Given the description of an element on the screen output the (x, y) to click on. 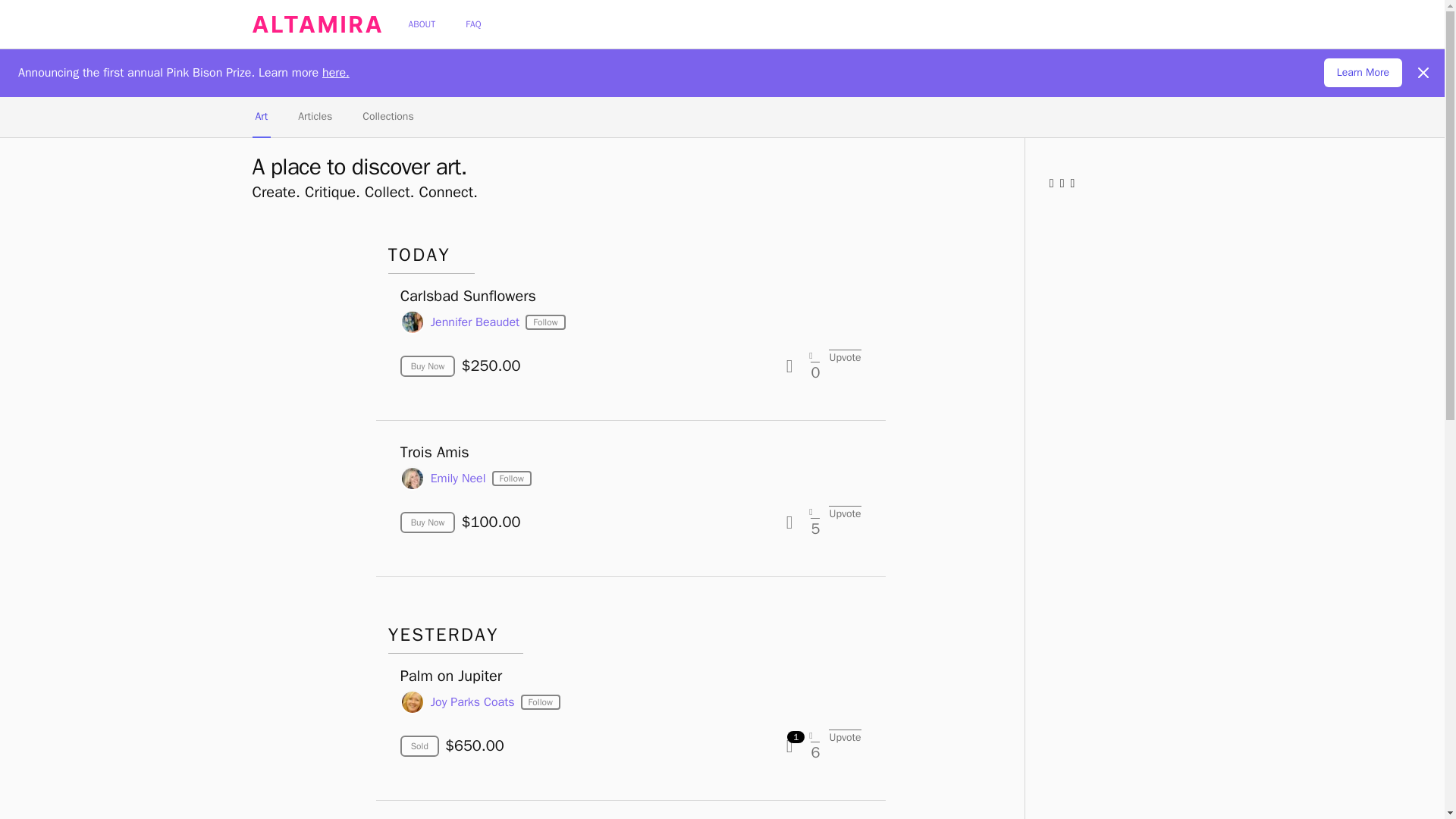
Upvote (841, 356)
Jennifer Beaudet (474, 321)
Collections (387, 117)
Dismiss (1422, 72)
Articles (314, 117)
ABOUT (421, 24)
FAQ (473, 24)
Follow (544, 321)
Buy Now (427, 365)
Emily Neel (458, 477)
